Given the description of an element on the screen output the (x, y) to click on. 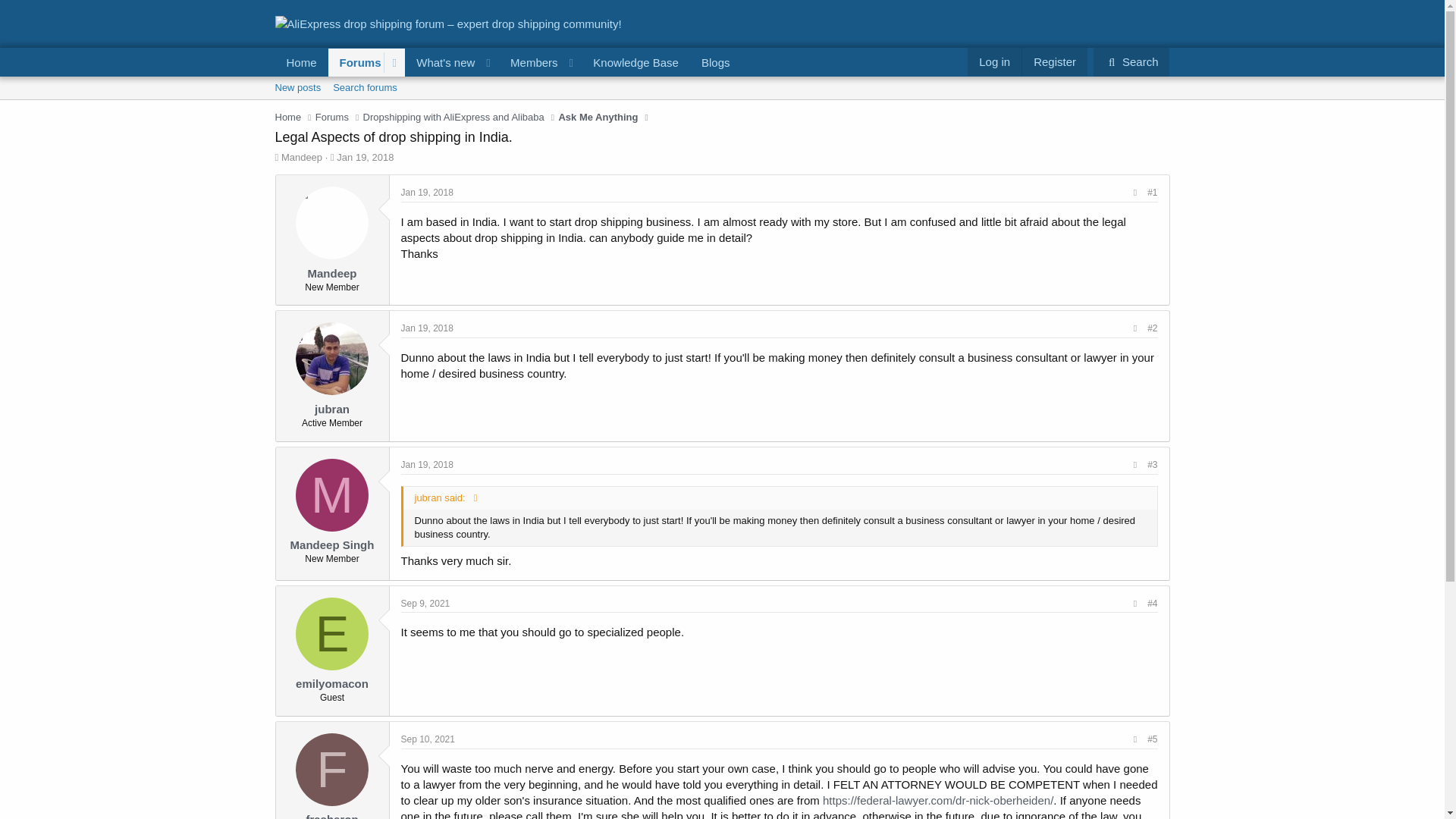
Jan 19, 2018 at 9:17 PM (426, 464)
Forums (332, 117)
Jan 19, 2018 at 6:22 AM (426, 192)
Forums (356, 62)
Register (1054, 61)
Search (507, 79)
Blogs (1131, 61)
Mandeep (715, 62)
Search forums (301, 156)
Dropshipping with AliExpress and Alibaba (364, 87)
Jan 19, 2018 at 6:22 AM (453, 117)
Jan 19, 2018 (364, 156)
Sep 10, 2021 at 5:29 AM (364, 156)
